Given the description of an element on the screen output the (x, y) to click on. 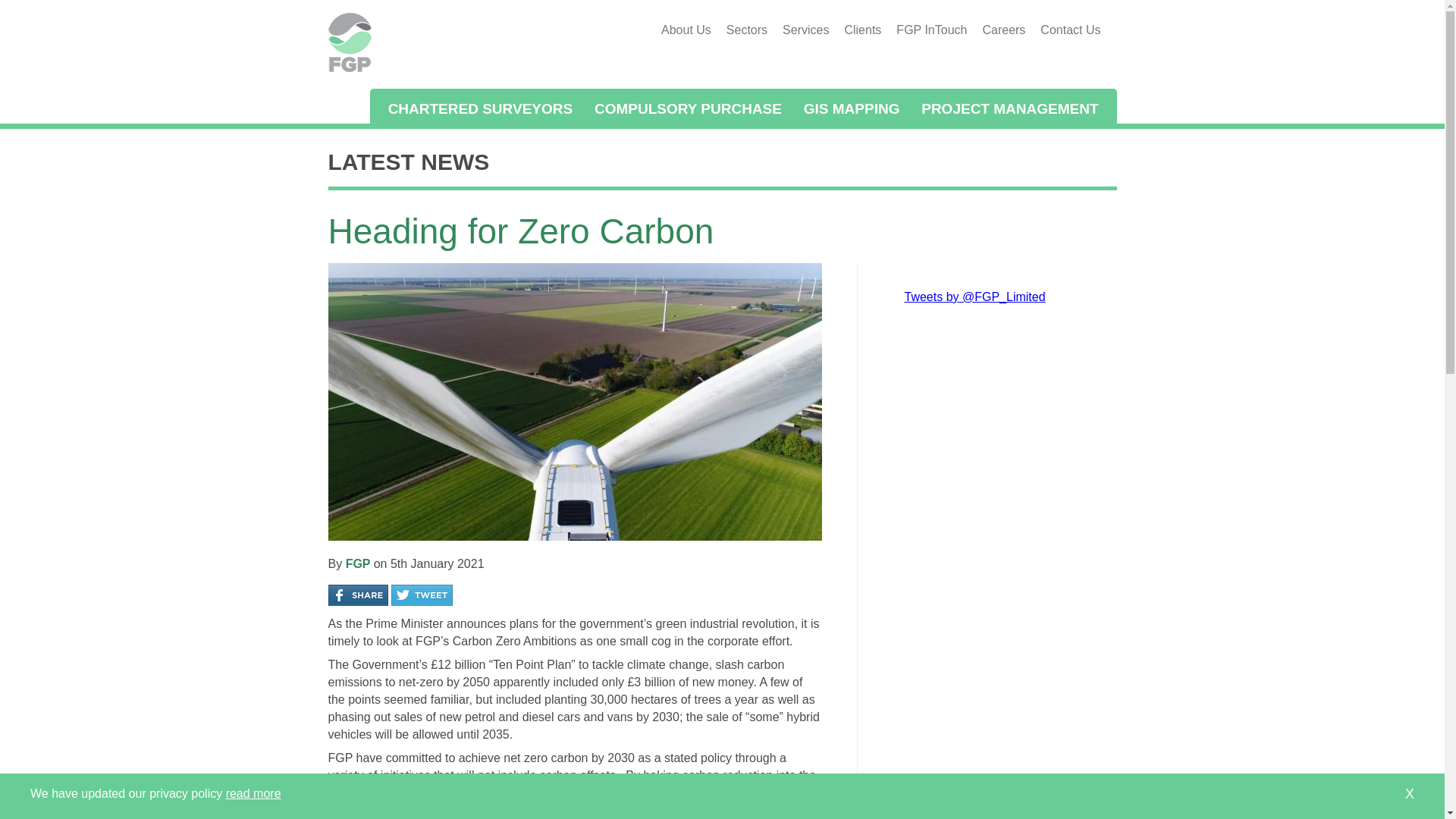
About Us (686, 29)
FGP InTouch (931, 29)
read more (253, 793)
GIS MAPPING (851, 105)
Clients (861, 29)
Contact Us (1070, 29)
Sectors (746, 29)
X (1409, 793)
Careers (1003, 29)
Home (349, 67)
CHARTERED SURVEYORS (480, 105)
COMPULSORY PURCHASE (687, 105)
Services (804, 29)
PROJECT MANAGEMENT (1009, 105)
